Given the description of an element on the screen output the (x, y) to click on. 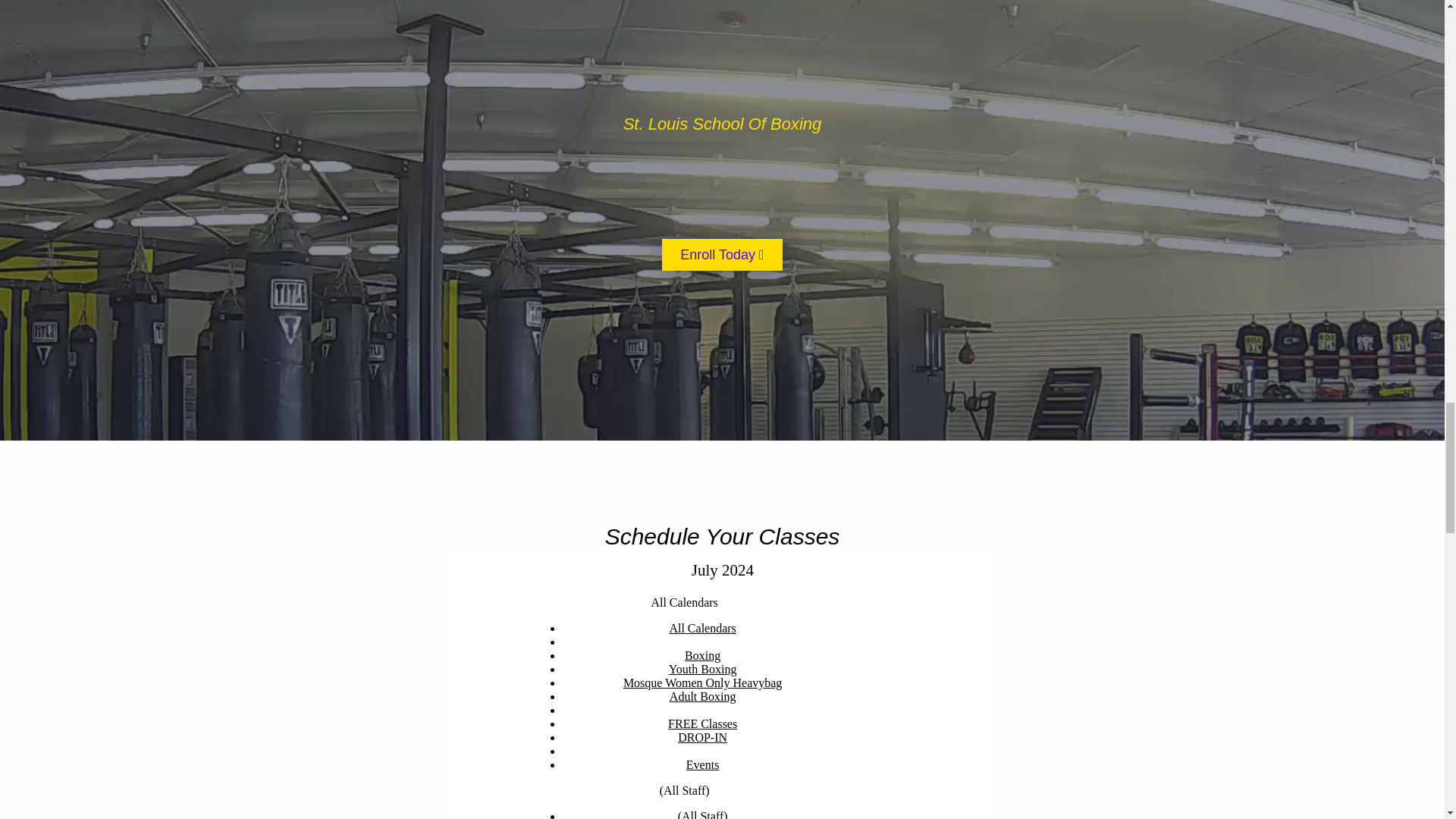
Enroll Today (721, 255)
